Given the description of an element on the screen output the (x, y) to click on. 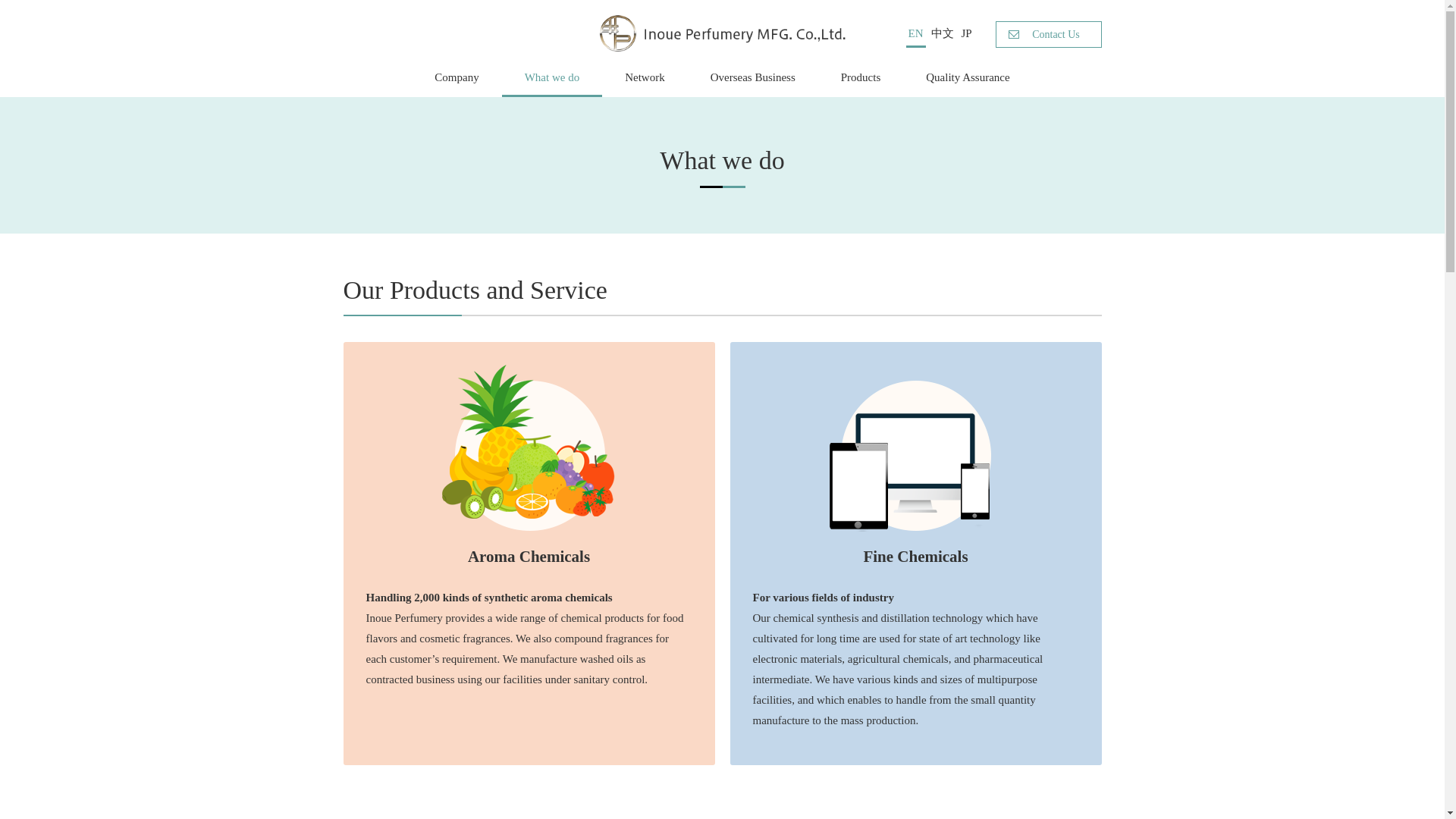
Contact Us (1047, 34)
